Given the description of an element on the screen output the (x, y) to click on. 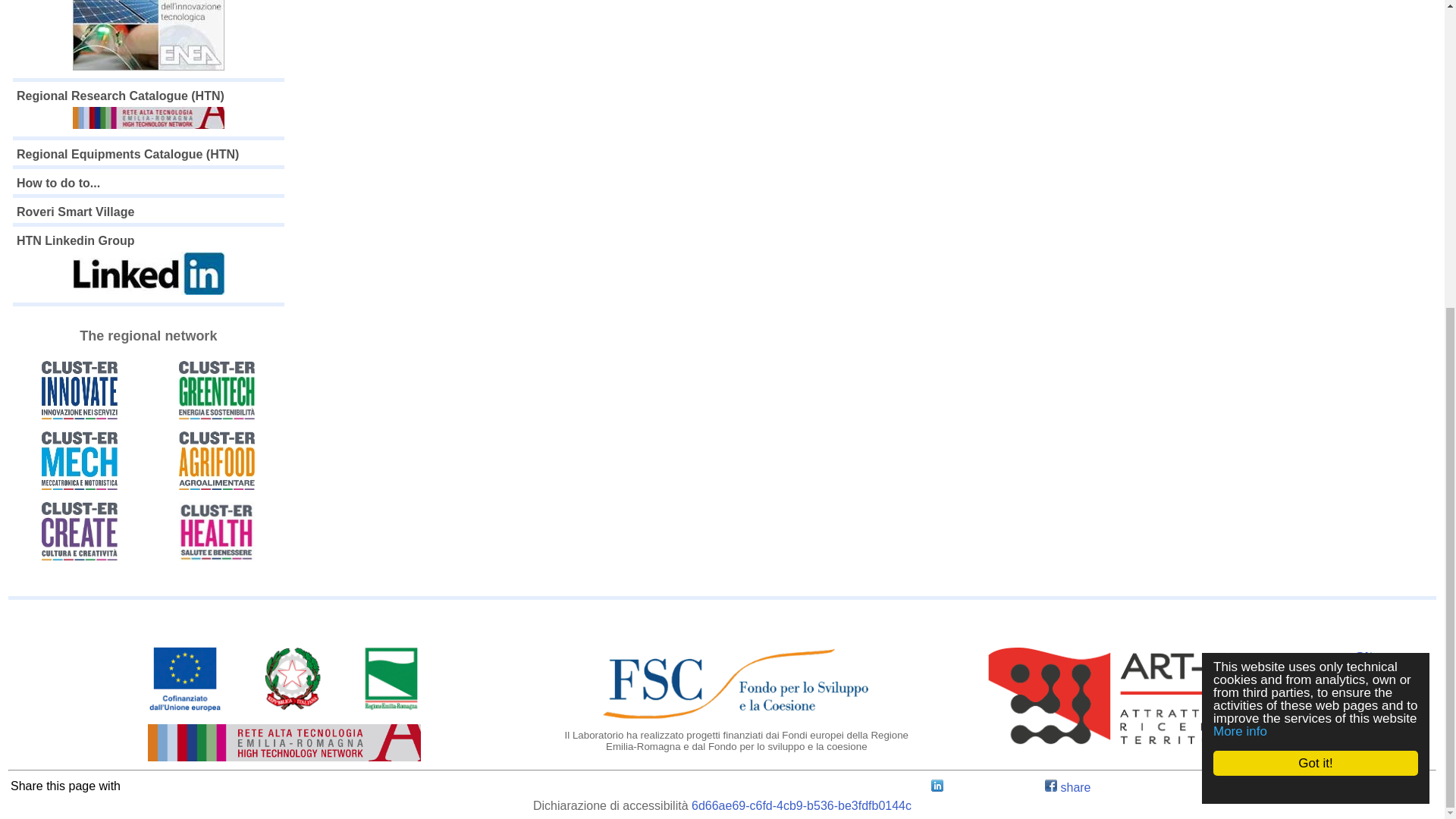
How to do to... (58, 182)
Roveri Smart Village (74, 211)
Technological Innovation ATLAS of ENEA (148, 37)
More info (1252, 244)
Got it! (1329, 276)
Cookie Consent plugin for the EU cookie law (1327, 302)
HTN Linkedin Group (148, 266)
